Given the description of an element on the screen output the (x, y) to click on. 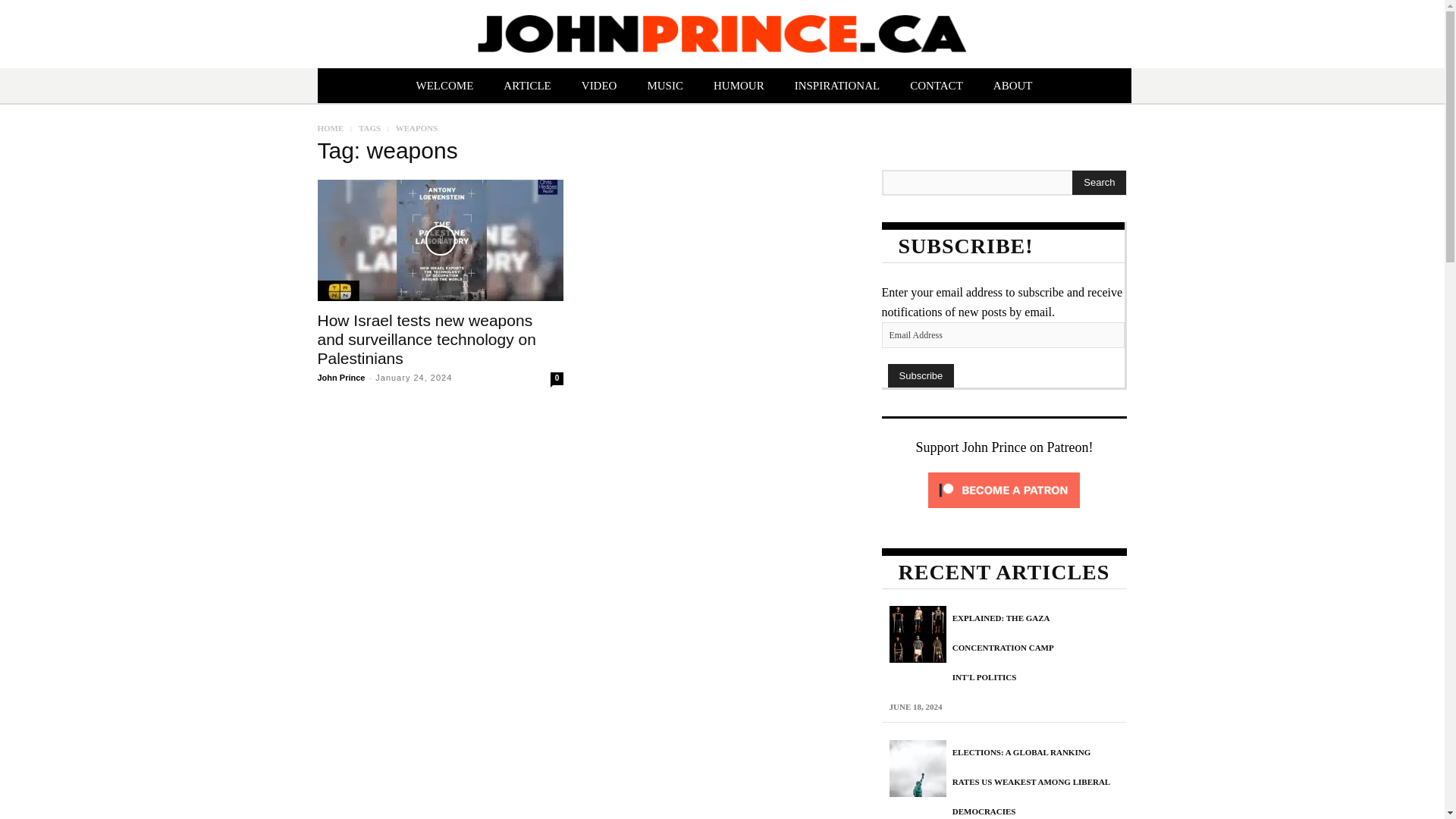
VIDEO (598, 85)
John Prince (341, 377)
CONTACT (936, 85)
HUMOUR (738, 85)
Search (1098, 182)
ARTICLE (526, 85)
HOME (330, 127)
Email Address (1002, 335)
Facebook (1128, 667)
EXPLAINED: THE GAZA CONCENTRATION CAMP (1003, 632)
Patron button (223, 644)
INT'L POLITICS (984, 676)
Twitter (1161, 667)
